Given the description of an element on the screen output the (x, y) to click on. 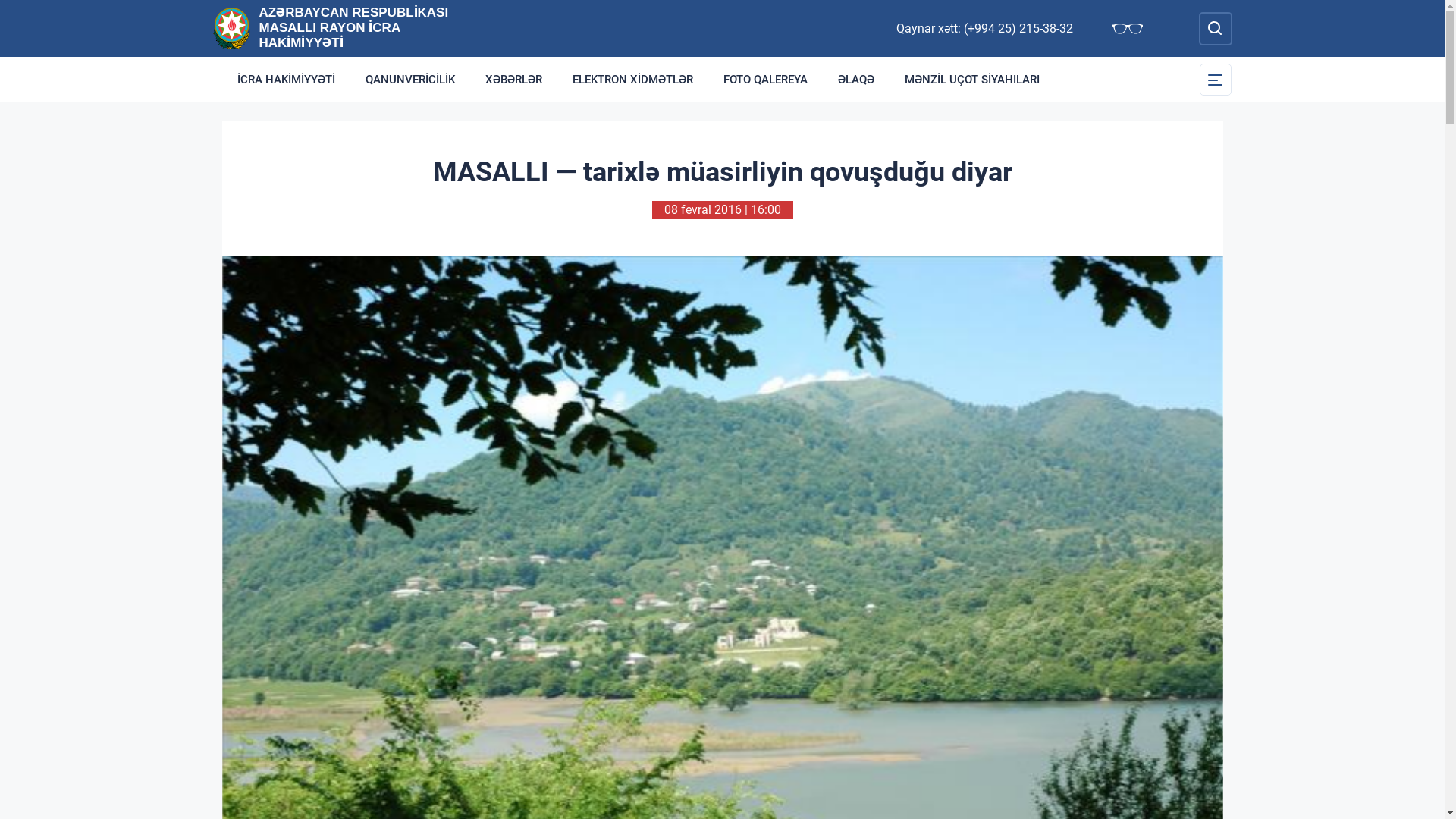
QANUNVERICILIK Element type: text (410, 79)
FOTO QALEREYA Element type: text (765, 79)
